Given the description of an element on the screen output the (x, y) to click on. 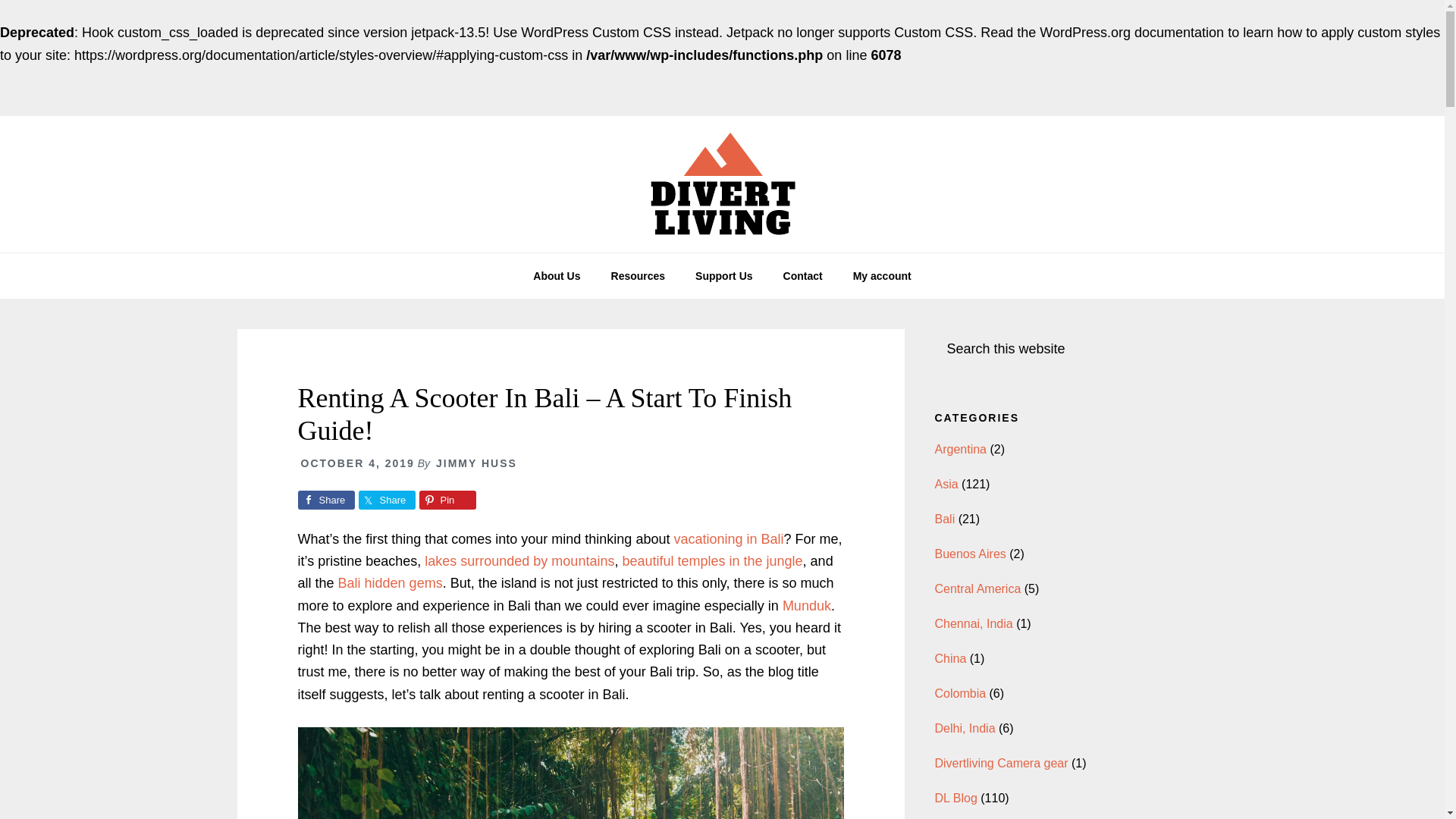
Resources (638, 275)
Divert Living (721, 184)
About Us (556, 275)
